Given the description of an element on the screen output the (x, y) to click on. 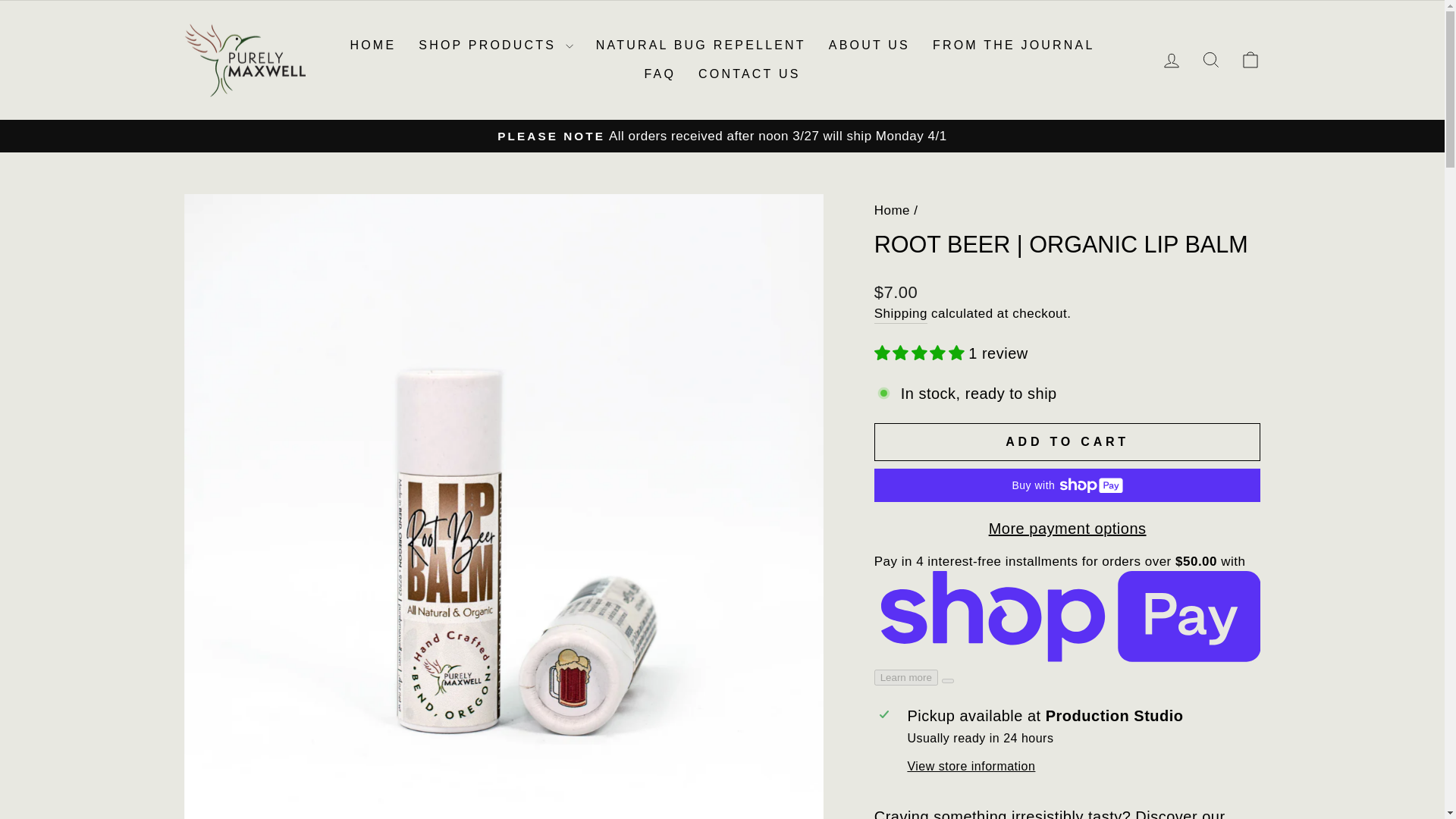
FAQ (659, 73)
ICON-BAG-MINIMAL (1249, 59)
ABOUT US (868, 45)
HOME (372, 45)
Back to the frontpage (892, 210)
ACCOUNT (1170, 60)
NATURAL BUG REPELLENT (700, 45)
CONTACT US (749, 73)
ICON-SEARCH (1171, 60)
FROM THE JOURNAL (1210, 59)
